Given the description of an element on the screen output the (x, y) to click on. 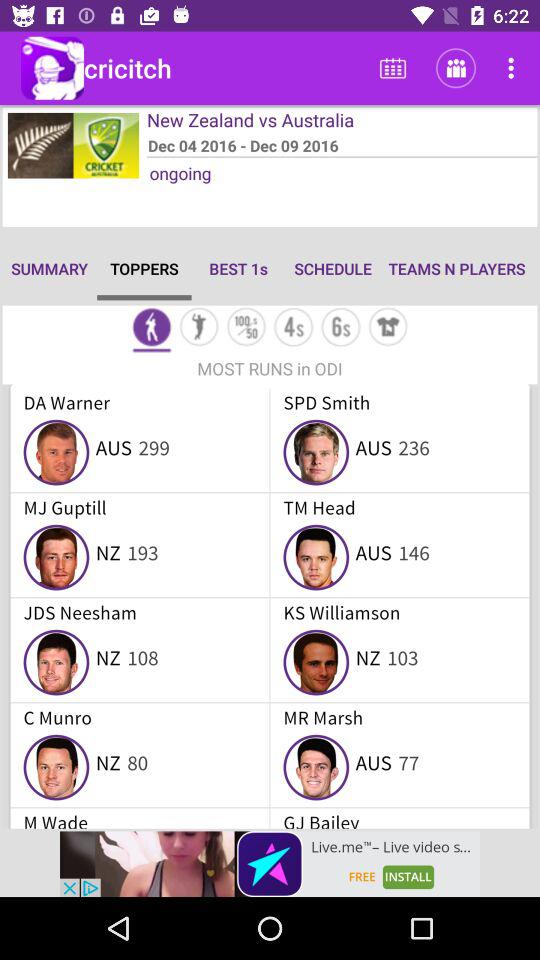
percentage page (246, 328)
